Given the description of an element on the screen output the (x, y) to click on. 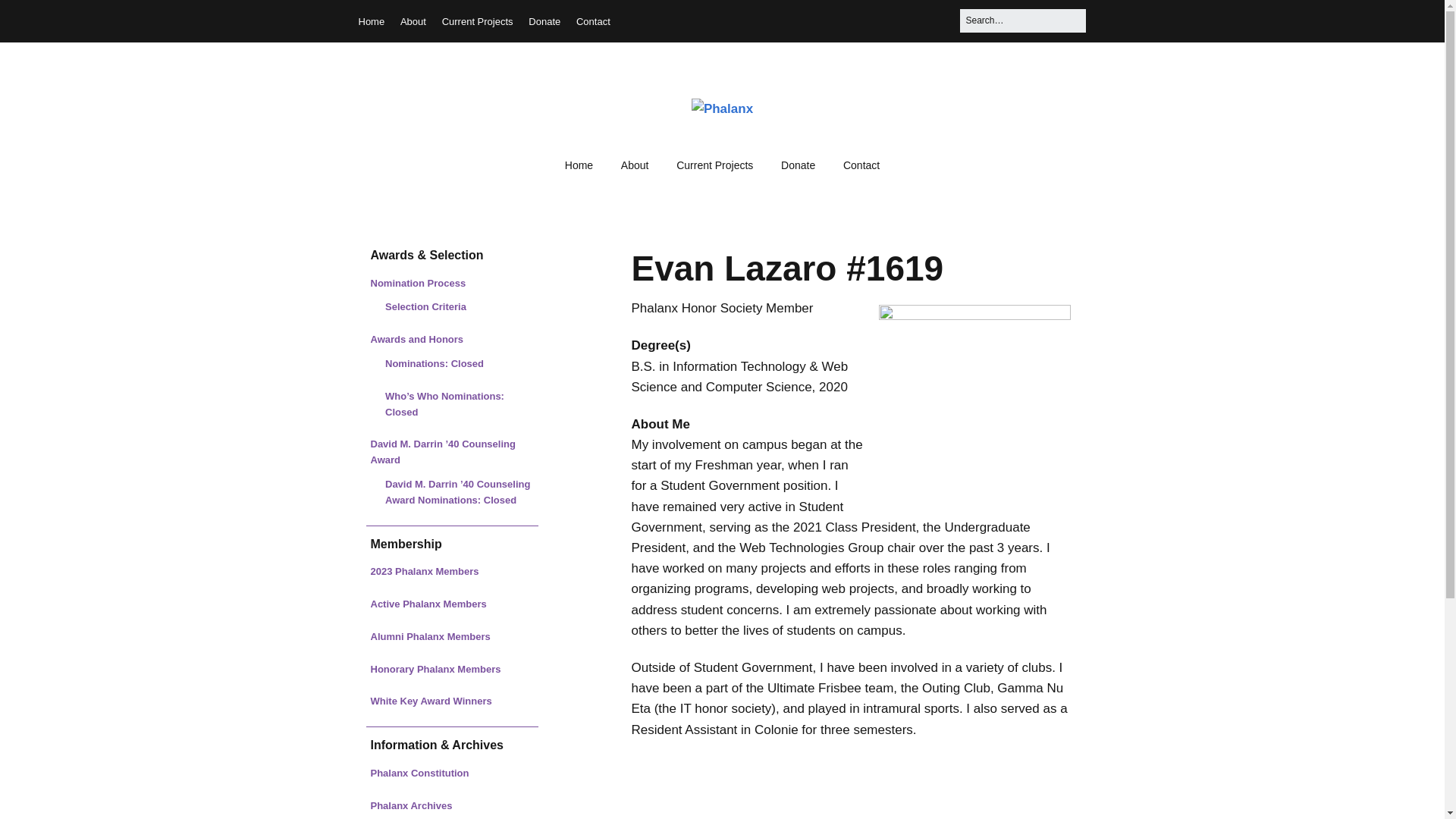
Home (371, 21)
About (634, 165)
Selection Criteria (425, 306)
Contact (593, 21)
Home (579, 165)
Active Phalanx Members (427, 603)
Honorary Phalanx Members (434, 668)
Donate (797, 165)
2023 Phalanx Members (424, 571)
About (413, 21)
Contact (861, 165)
Awards and Honors (416, 338)
Phalanx Archives (410, 804)
Search (29, 16)
Donate (544, 21)
